Given the description of an element on the screen output the (x, y) to click on. 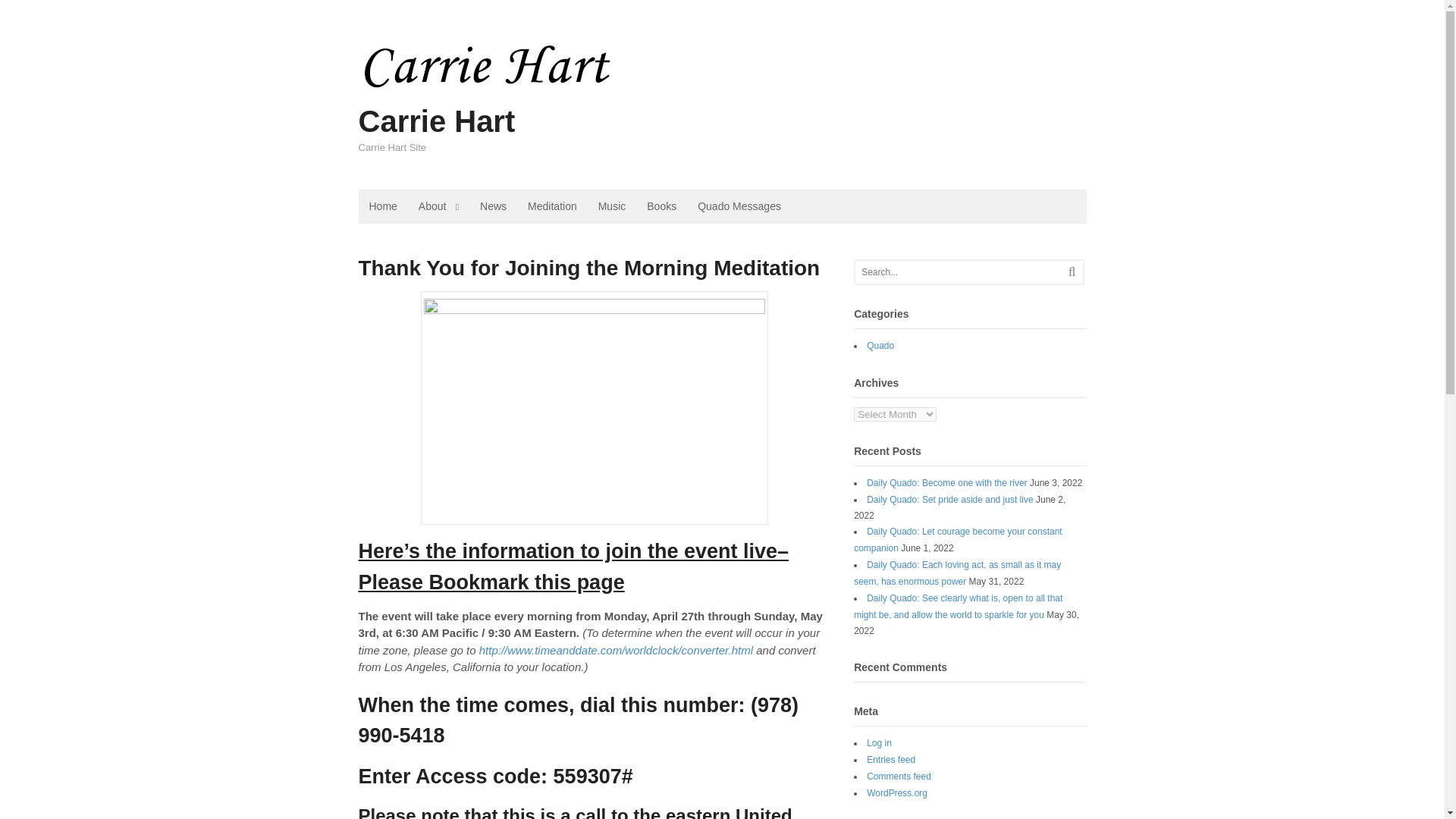
Carrie Hart (436, 121)
Meditation (552, 206)
Carrie Hart Site (547, 98)
Home (382, 206)
Search... (958, 272)
WordPress.org (896, 792)
Daily Quado: Let courage become your constant companion (957, 539)
Comments feed (898, 776)
Music (612, 206)
